Given the description of an element on the screen output the (x, y) to click on. 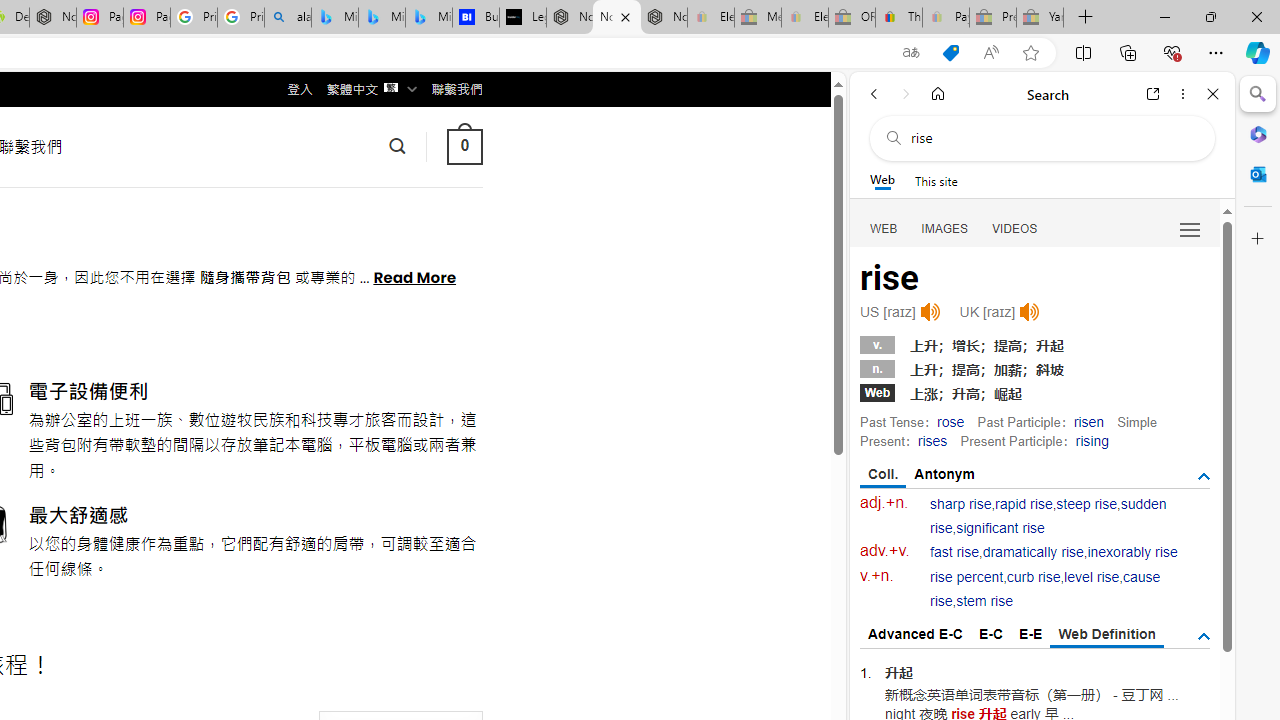
Show translate options (910, 53)
